Given the description of an element on the screen output the (x, y) to click on. 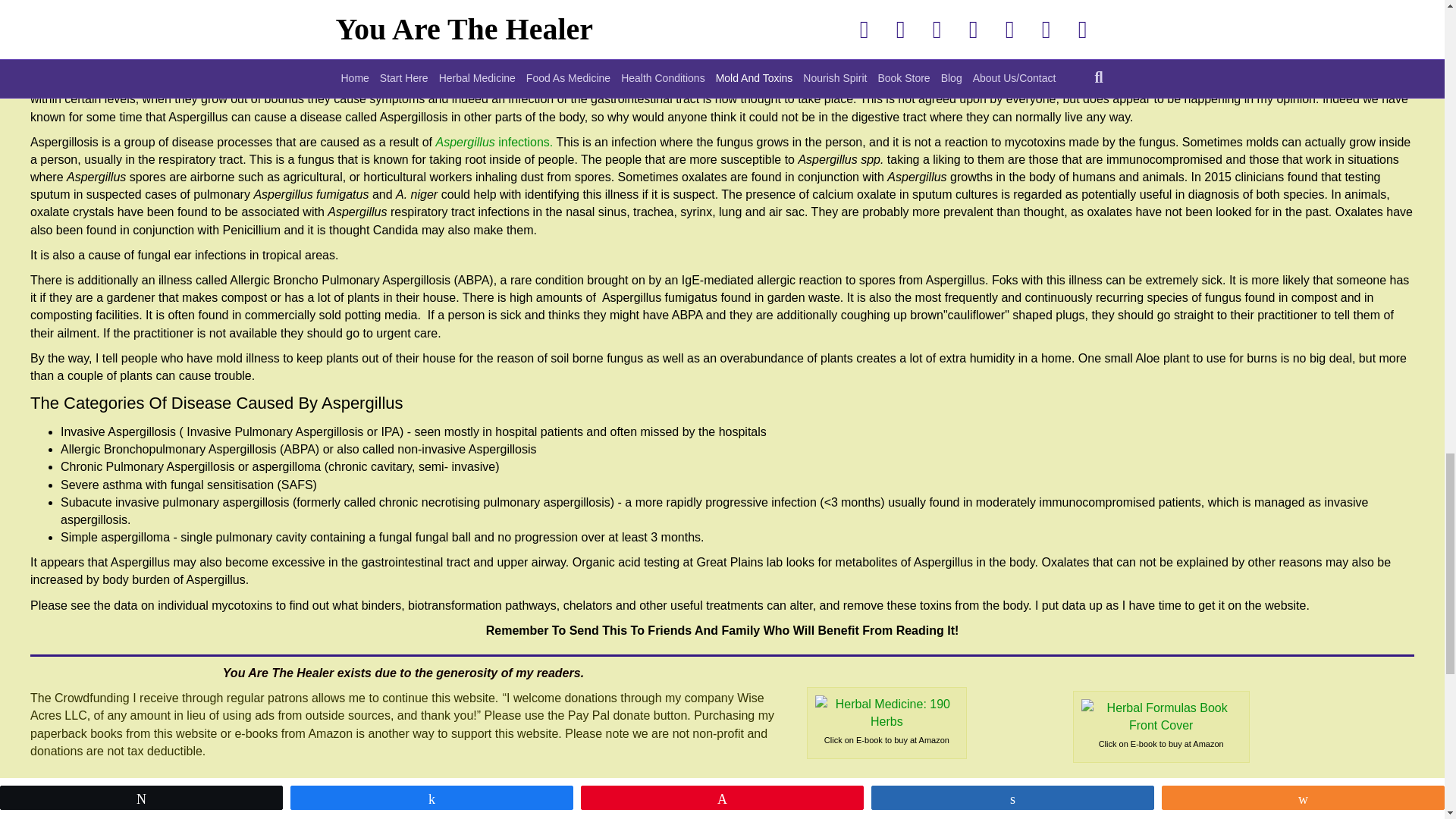
PayPal - The safer, easier way to pay online! (85, 803)
